Given the description of an element on the screen output the (x, y) to click on. 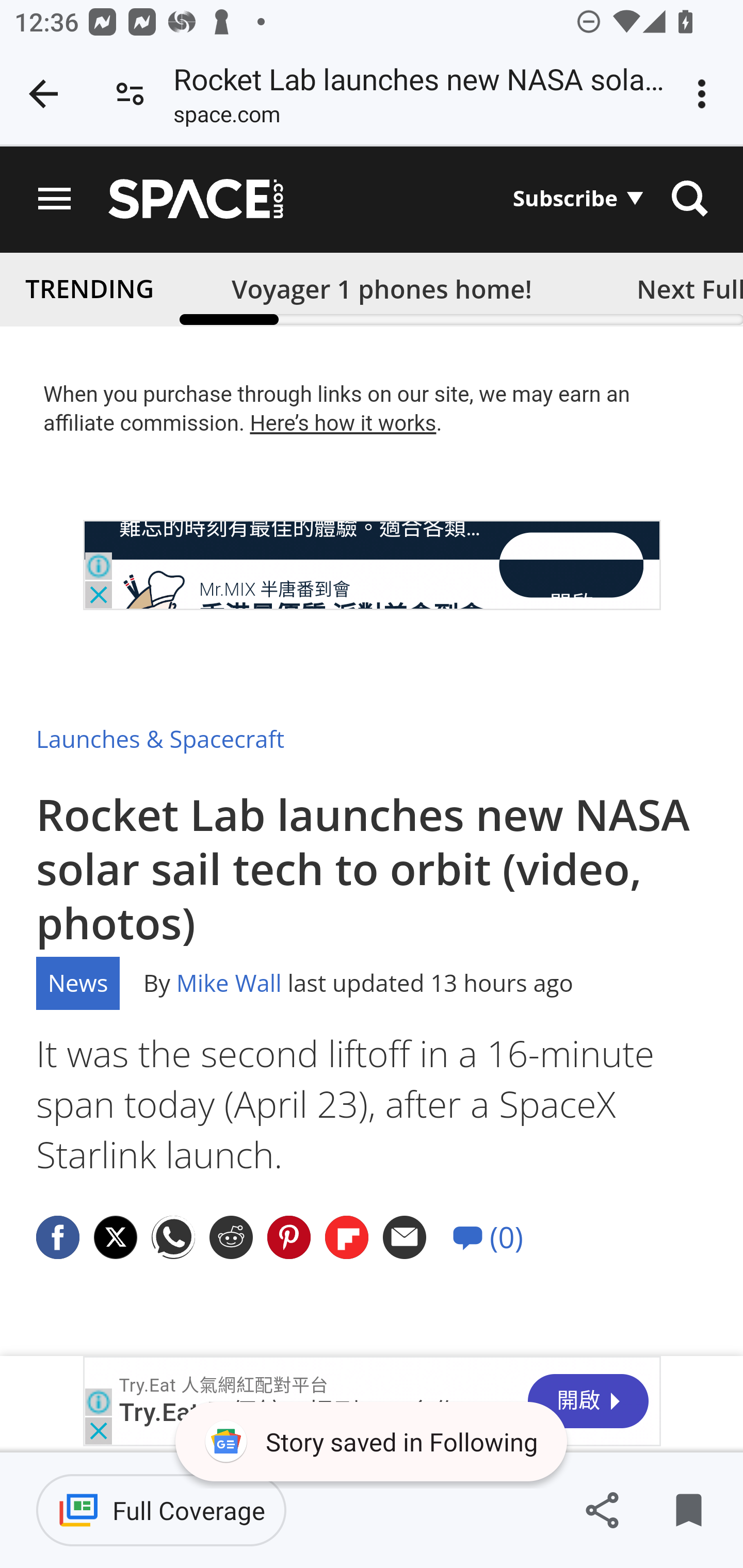
Close tab (43, 93)
Customize and control Google Chrome (705, 93)
Connection is secure (129, 93)
space.com (226, 117)
Open menu (54, 199)
Space (195, 199)
Search (689, 199)
Subscribe (577, 197)
Voyager 1 phones home! (381, 288)
Next Full Moon (682, 288)
Here’s how it works (342, 423)
News (78, 982)
Mike Wall (227, 982)
Share this page on Facebook (58, 1237)
 Share this page on Twitter (115, 1237)
Share this page on WhatsApp (173, 1237)
Share this page on Reddit  (230, 1237)
Share this page on Pinterest (289, 1237)
Share this page on Flipboard (347, 1237)
Share this page on your Email  (404, 1237)
(0)  (0) (487, 1237)
Full Coverage (161, 1509)
Share (601, 1510)
Remove from saved stories (688, 1510)
